Given the description of an element on the screen output the (x, y) to click on. 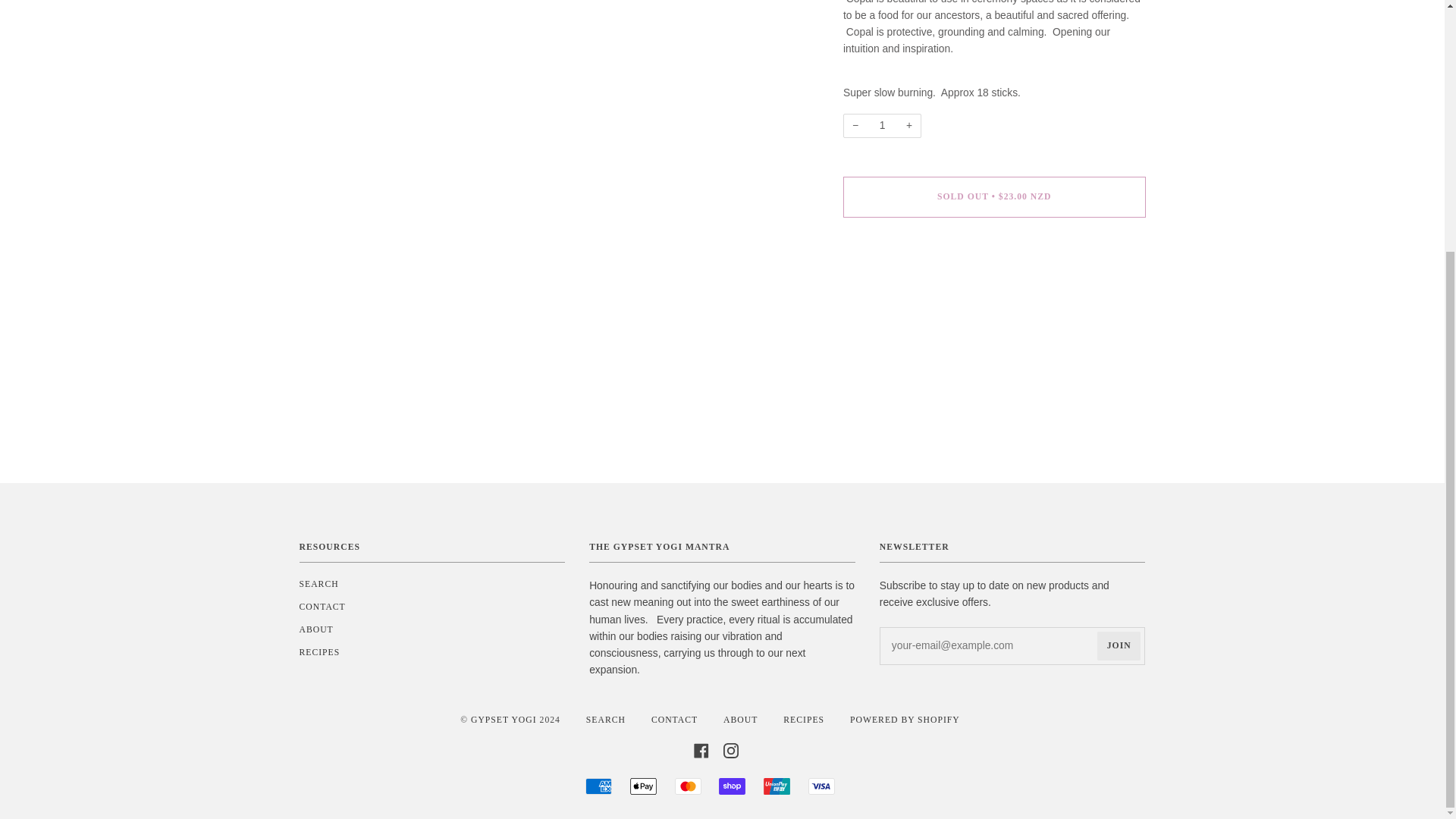
UNION PAY (776, 786)
MASTERCARD (688, 786)
CONTACT (321, 606)
SHOP PAY (732, 786)
AMERICAN EXPRESS (598, 786)
FACEBOOK (701, 749)
GYPSET YOGI (503, 719)
APPLE PAY (643, 786)
SEARCH (606, 719)
VISA (821, 786)
RECIPES (318, 652)
RECIPES (803, 719)
CONTACT (673, 719)
INSTAGRAM (730, 749)
POWERED BY SHOPIFY (904, 719)
